Given the description of an element on the screen output the (x, y) to click on. 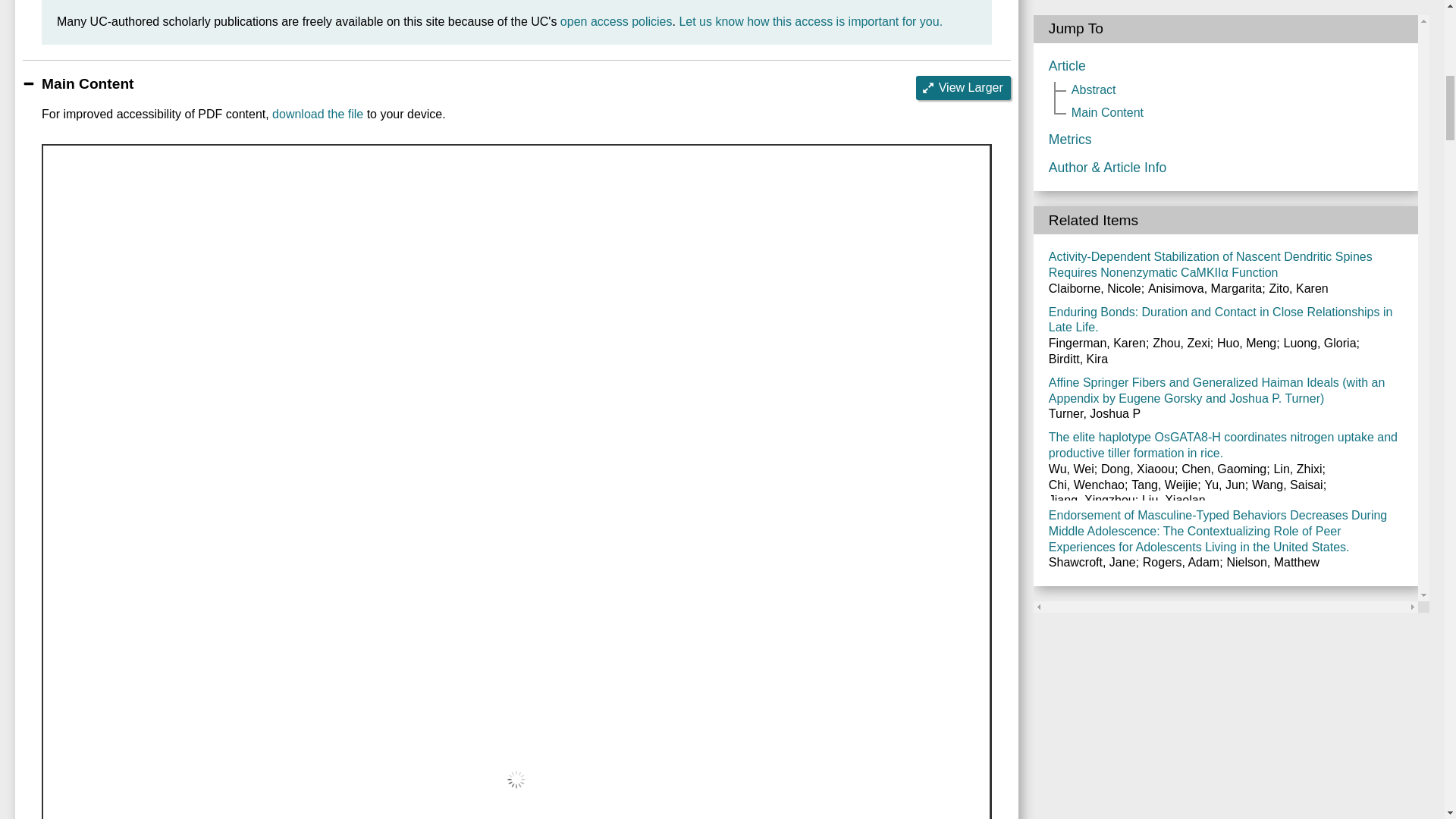
Let us know how this access is important for you. (810, 21)
View Larger (962, 87)
download the file (317, 113)
open access policies (616, 21)
